Given the description of an element on the screen output the (x, y) to click on. 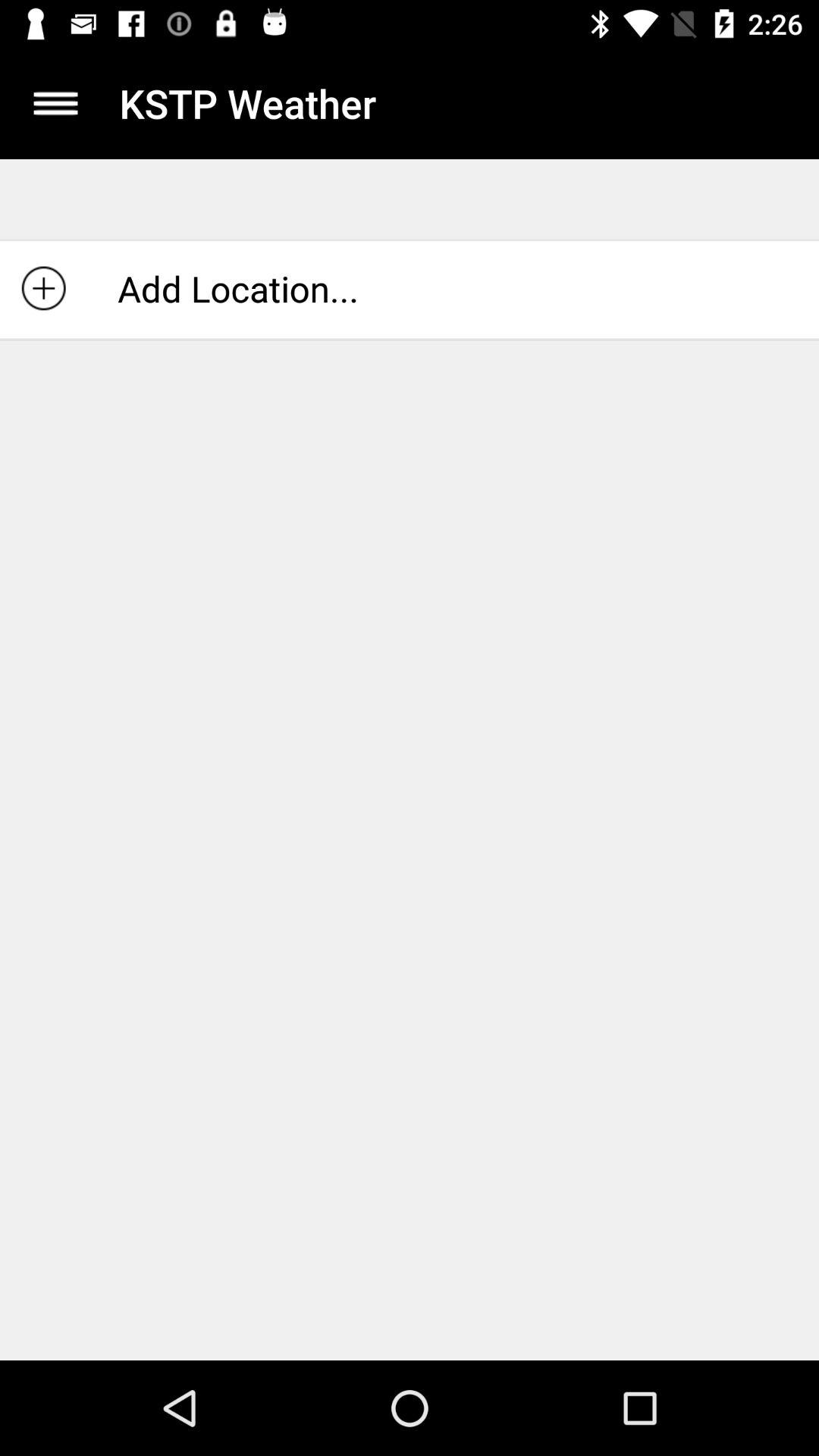
choose add location... item (409, 288)
